Given the description of an element on the screen output the (x, y) to click on. 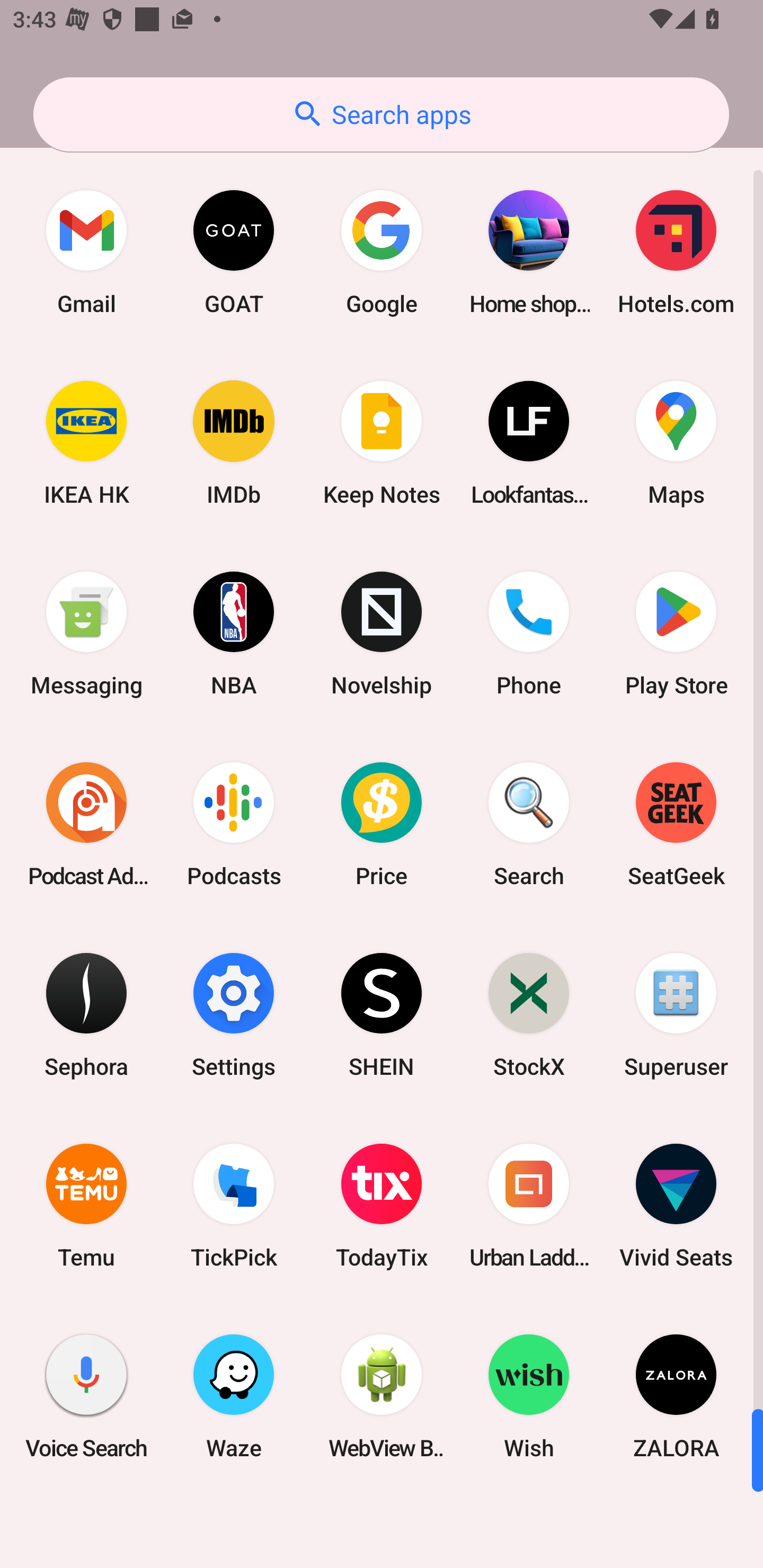
  Search apps (381, 114)
Gmail (86, 252)
GOAT (233, 252)
Google (381, 252)
Home shopping (528, 252)
Hotels.com (676, 252)
IKEA HK (86, 442)
IMDb (233, 442)
Keep Notes (381, 442)
Lookfantastic (528, 442)
Maps (676, 442)
Messaging (86, 633)
NBA (233, 633)
Novelship (381, 633)
Phone (528, 633)
Play Store (676, 633)
Podcast Addict (86, 823)
Podcasts (233, 823)
Price (381, 823)
Search (528, 823)
SeatGeek (676, 823)
Sephora (86, 1014)
Settings (233, 1014)
SHEIN (381, 1014)
StockX (528, 1014)
Superuser (676, 1014)
Temu (86, 1205)
TickPick (233, 1205)
TodayTix (381, 1205)
Urban Ladder (528, 1205)
Vivid Seats (676, 1205)
Voice Search (86, 1396)
Waze (233, 1396)
WebView Browser Tester (381, 1396)
Wish (528, 1396)
ZALORA (676, 1396)
